Given the description of an element on the screen output the (x, y) to click on. 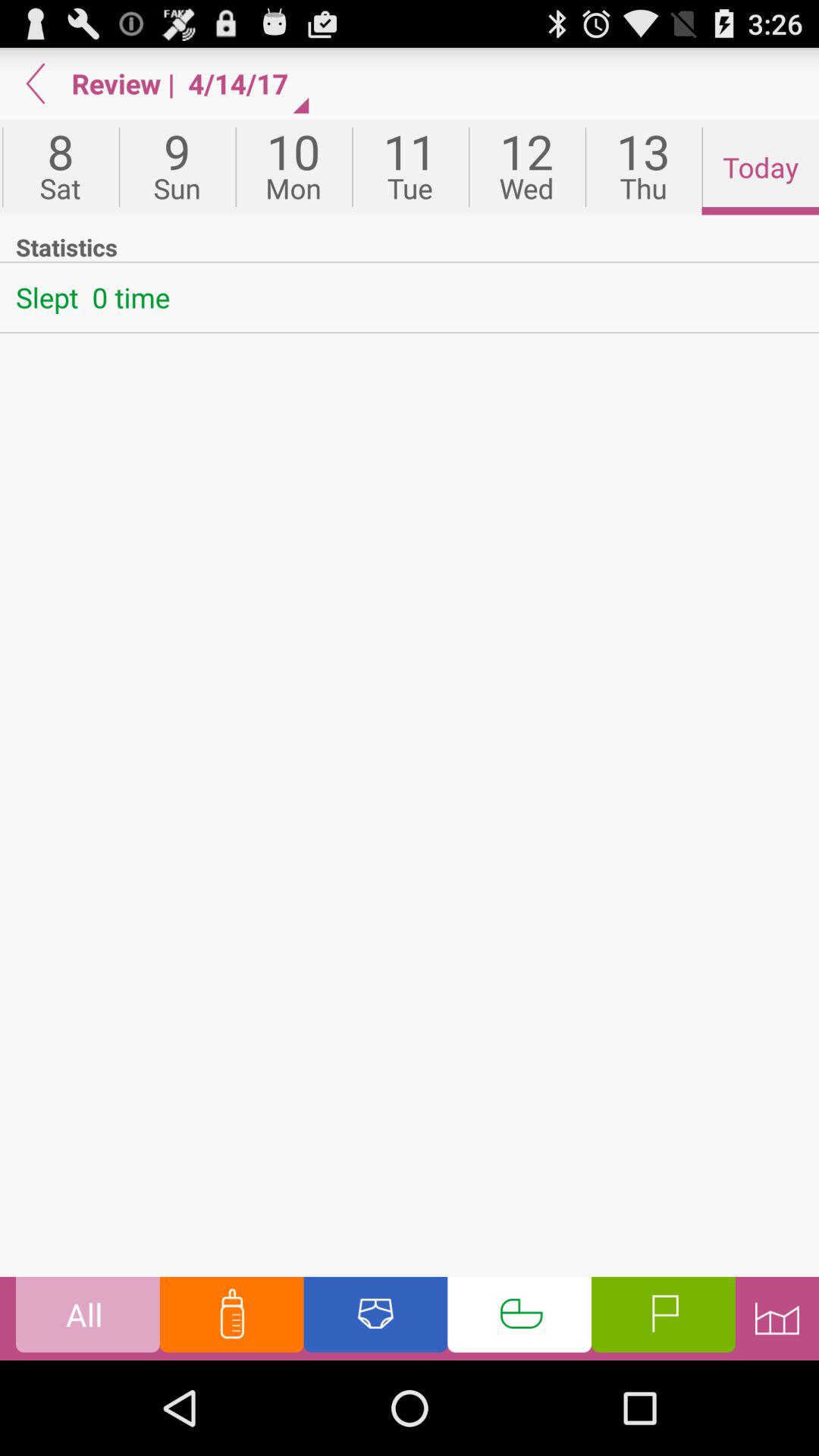
tap app above the statistics app (526, 166)
